Given the description of an element on the screen output the (x, y) to click on. 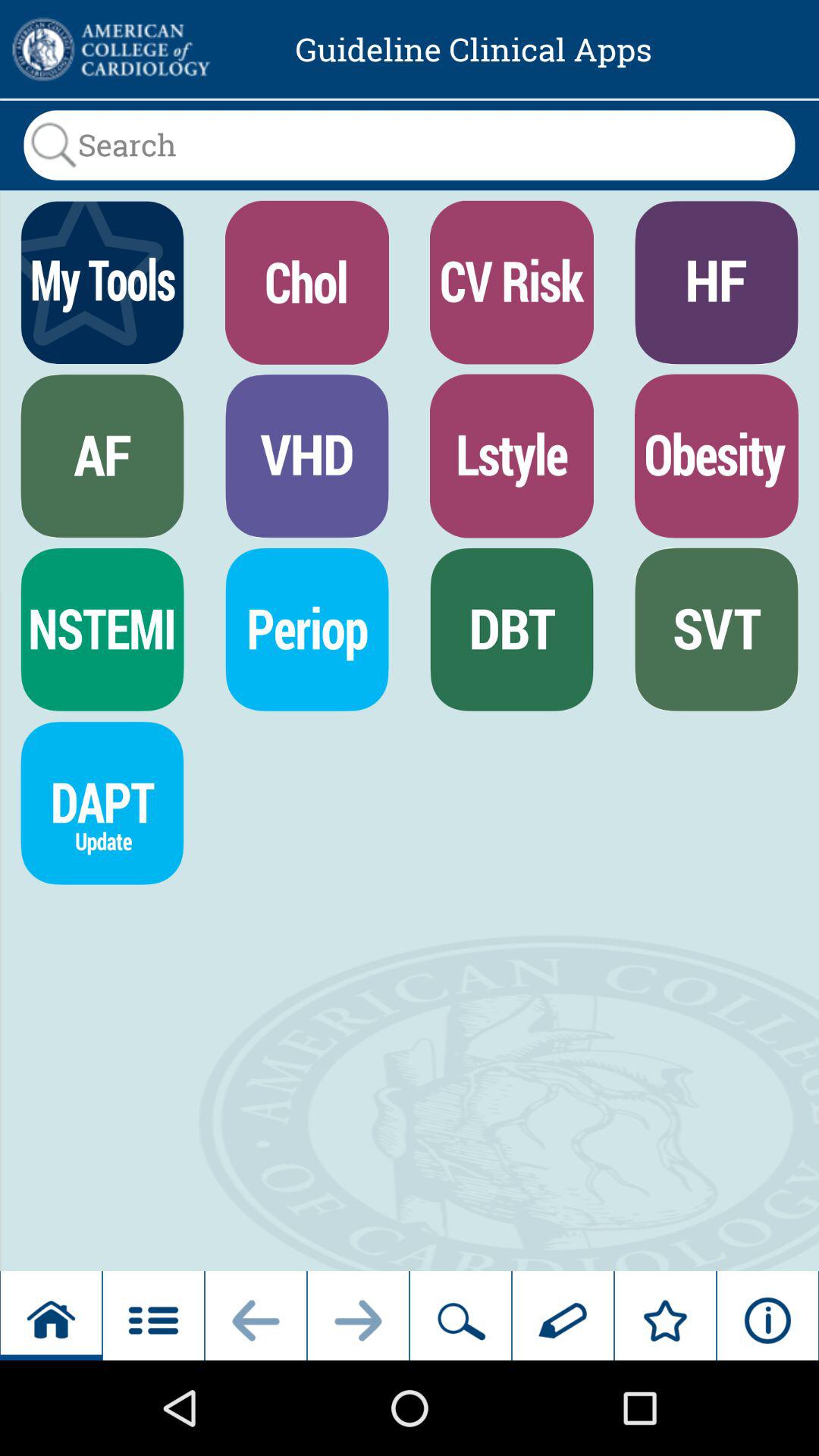
search bar (409, 145)
